Given the description of an element on the screen output the (x, y) to click on. 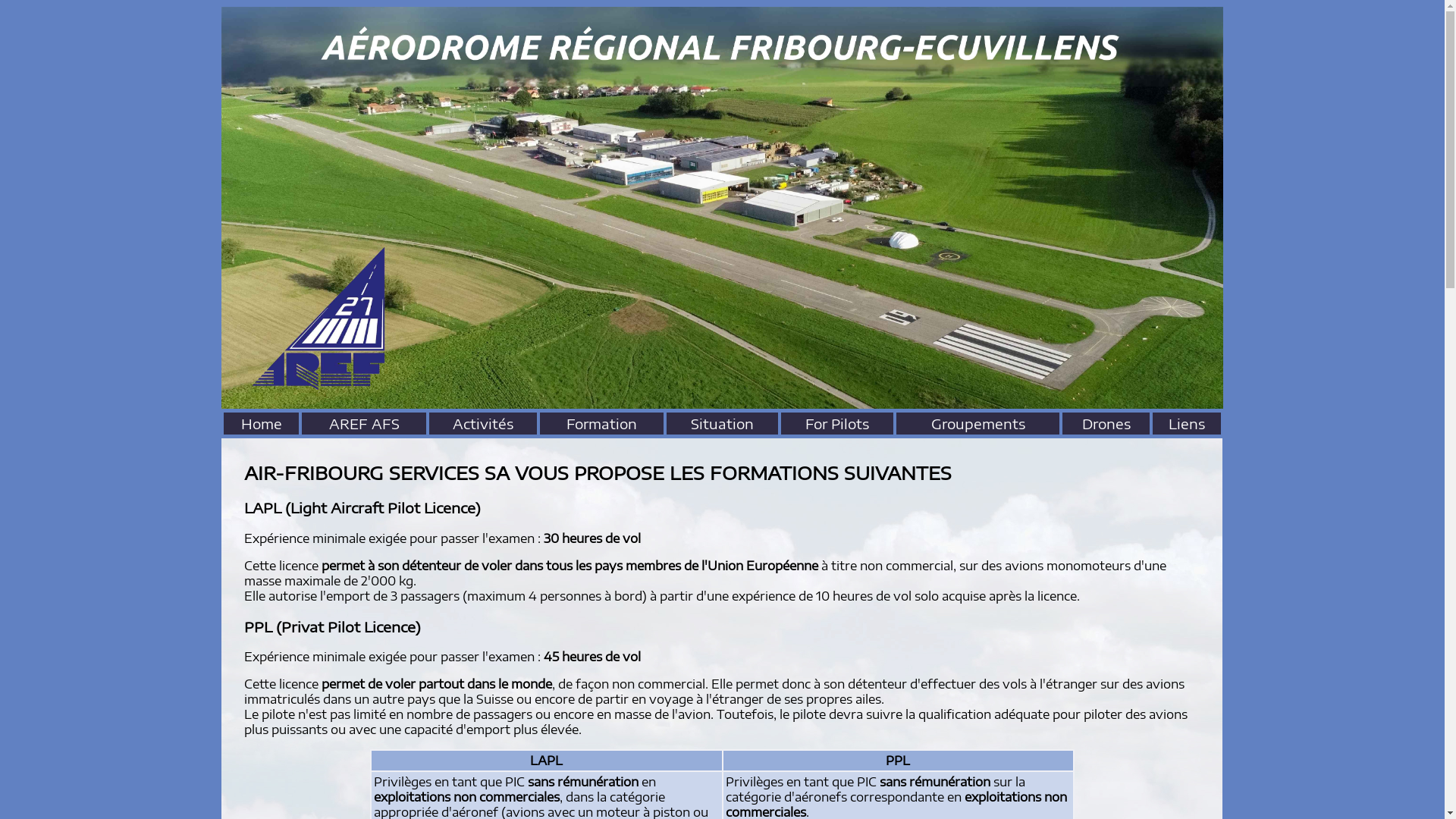
Groupements Element type: text (978, 425)
Formation Element type: text (601, 425)
For Pilots Element type: text (837, 425)
Situation Element type: text (721, 425)
Drones Element type: text (1106, 425)
Liens Element type: text (1186, 425)
AREF AFS Element type: text (364, 425)
Home Element type: text (261, 425)
